Given the description of an element on the screen output the (x, y) to click on. 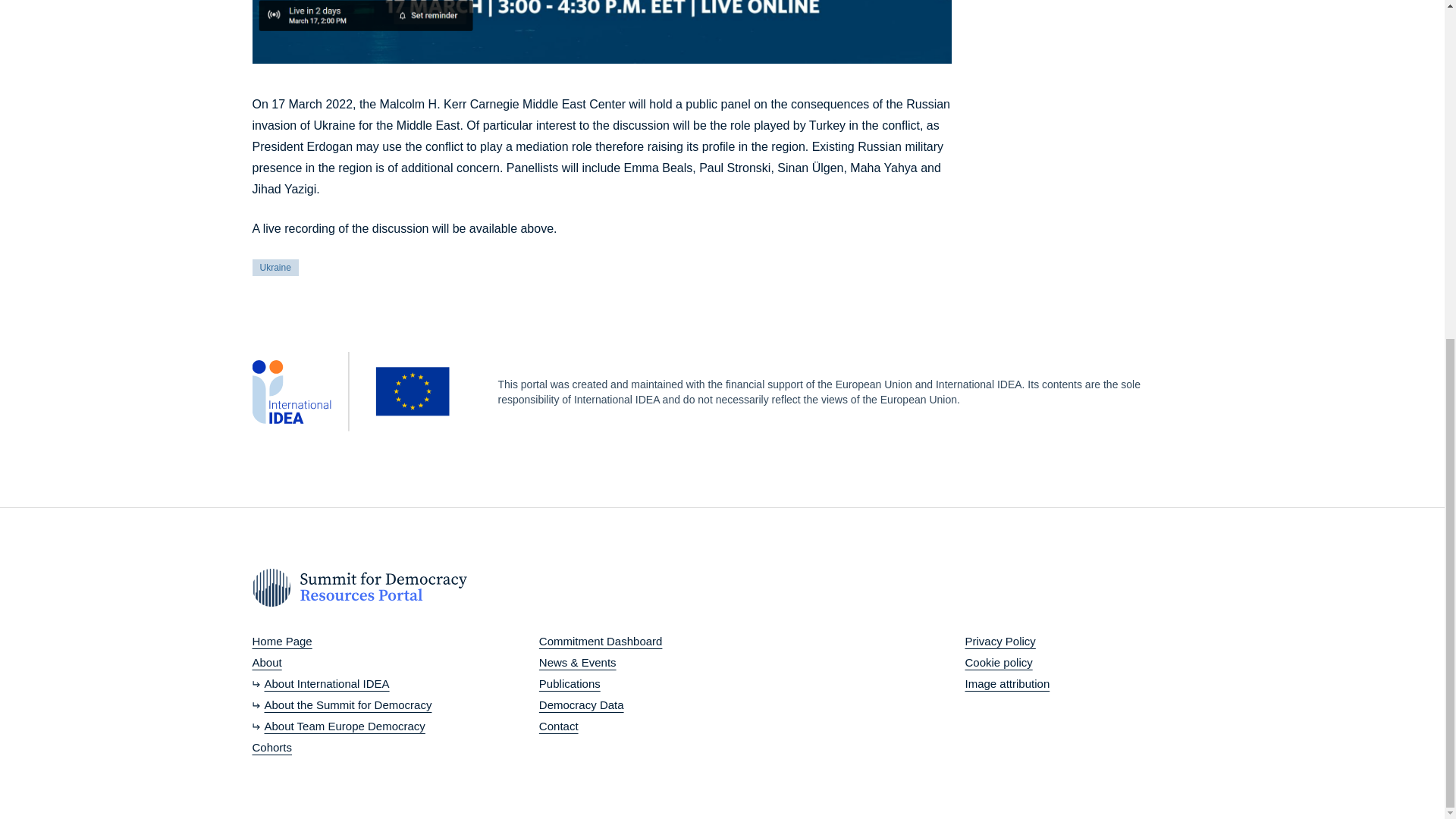
Cohorts (340, 747)
About (340, 662)
Home Page (340, 640)
Ukraine (274, 266)
Democracy Data (600, 704)
Contact (600, 726)
Commitment Dashboard (600, 640)
About International IDEA (340, 683)
About the Summit for Democracy (340, 704)
About Team Europe Democracy (340, 726)
Publications (600, 683)
